Given the description of an element on the screen output the (x, y) to click on. 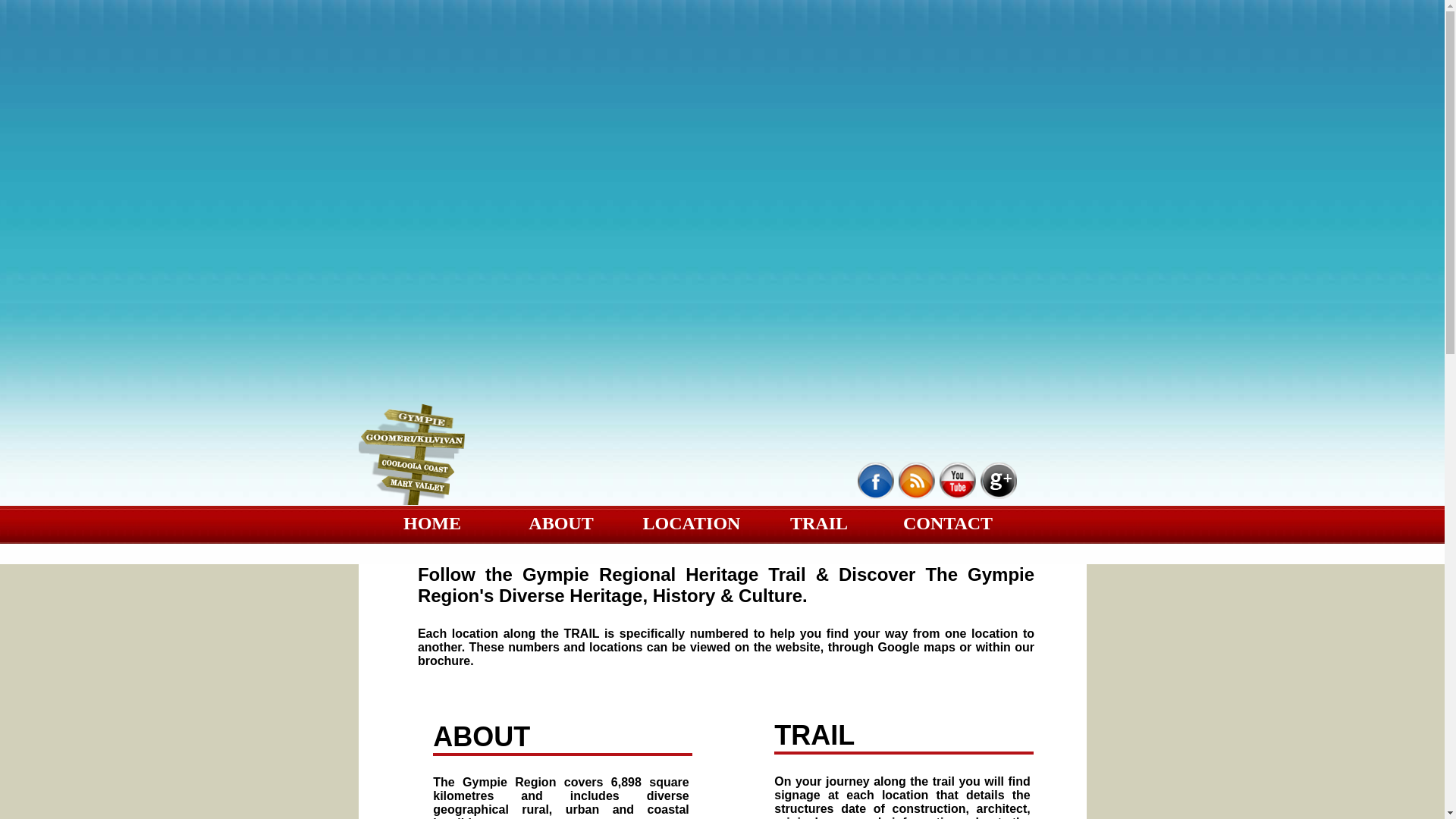
ABOUT Element type: text (561, 523)
TRAIL Element type: text (819, 523)
CONTACT Element type: text (948, 523)
LOCATION Element type: text (690, 523)
HOME Element type: text (432, 523)
